Given the description of an element on the screen output the (x, y) to click on. 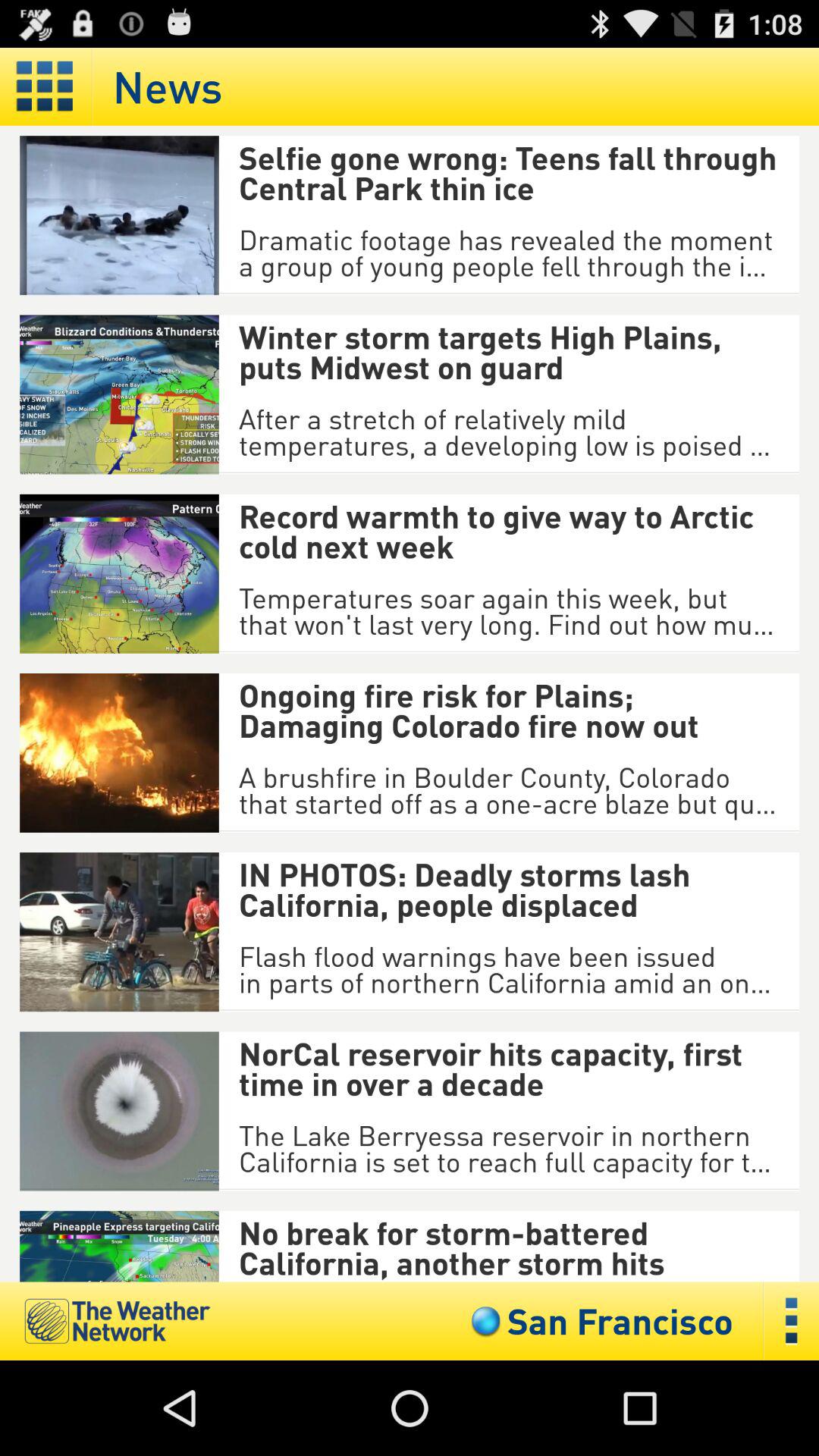
select the second video news pic (119, 394)
